Given the description of an element on the screen output the (x, y) to click on. 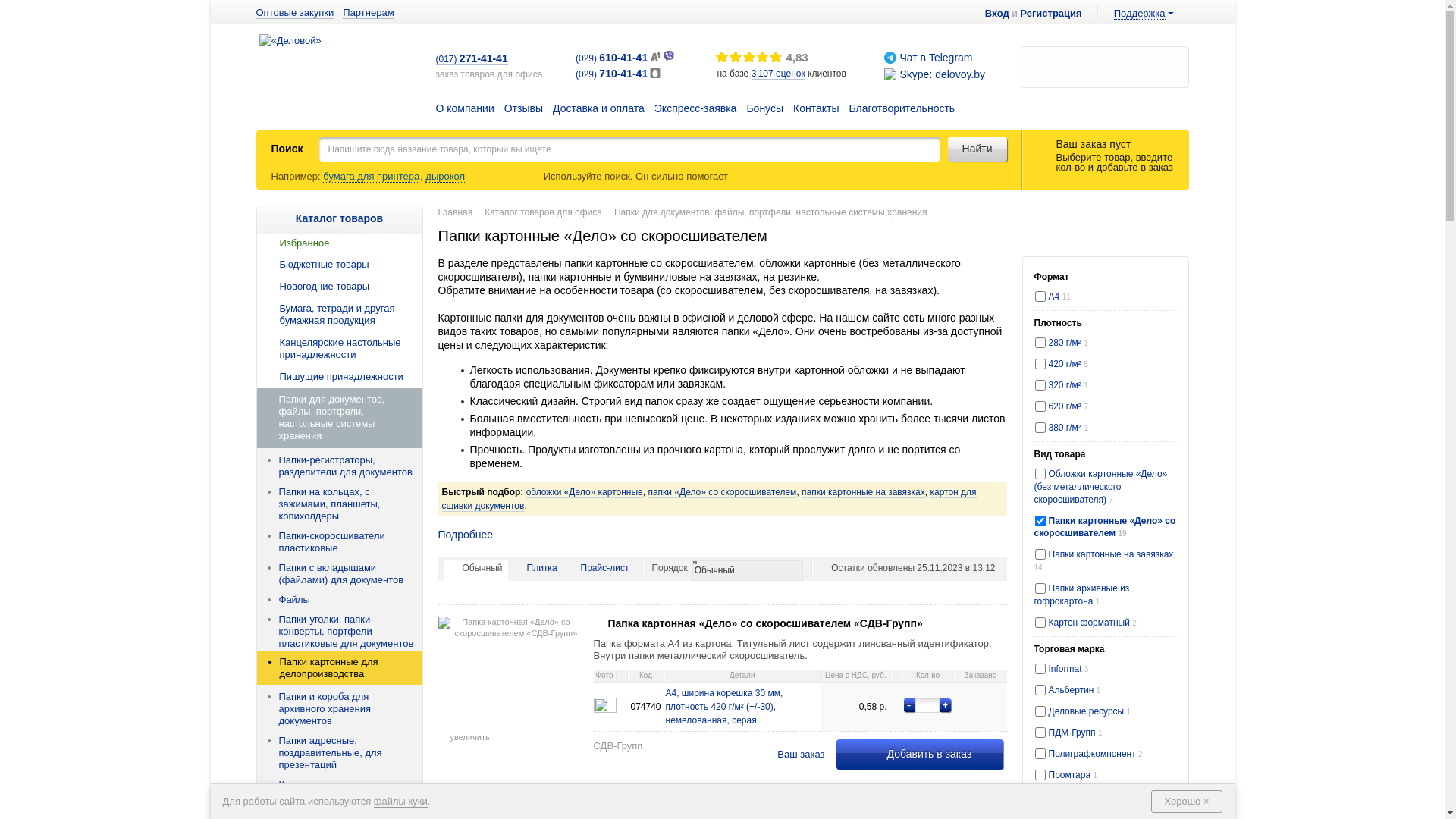
(017) 271-41-41 Element type: text (471, 58)
(029) 710-41-41 Element type: text (617, 74)
Skype: delovoy.by Element type: text (942, 74)
(029) 610-41-41 Element type: text (617, 58)
